Given the description of an element on the screen output the (x, y) to click on. 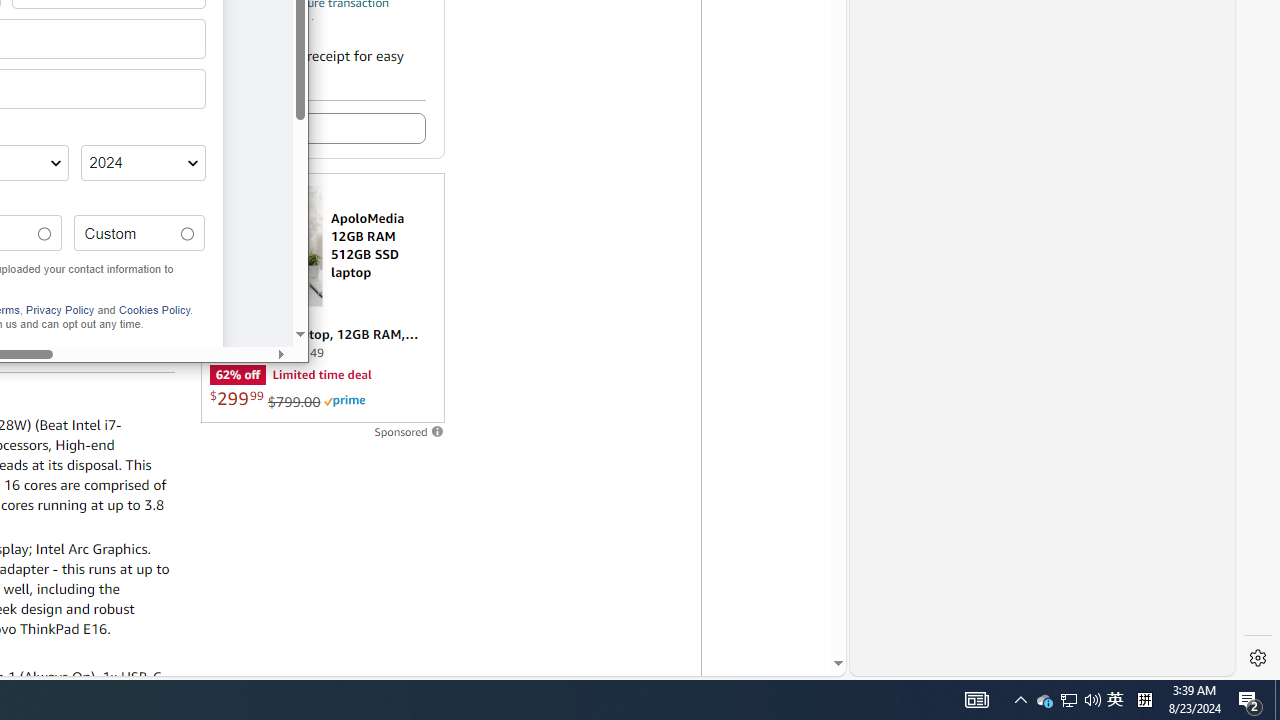
Privacy Policy (1115, 699)
Prime (59, 309)
Cookies Policy (344, 400)
Male (153, 309)
